Given the description of an element on the screen output the (x, y) to click on. 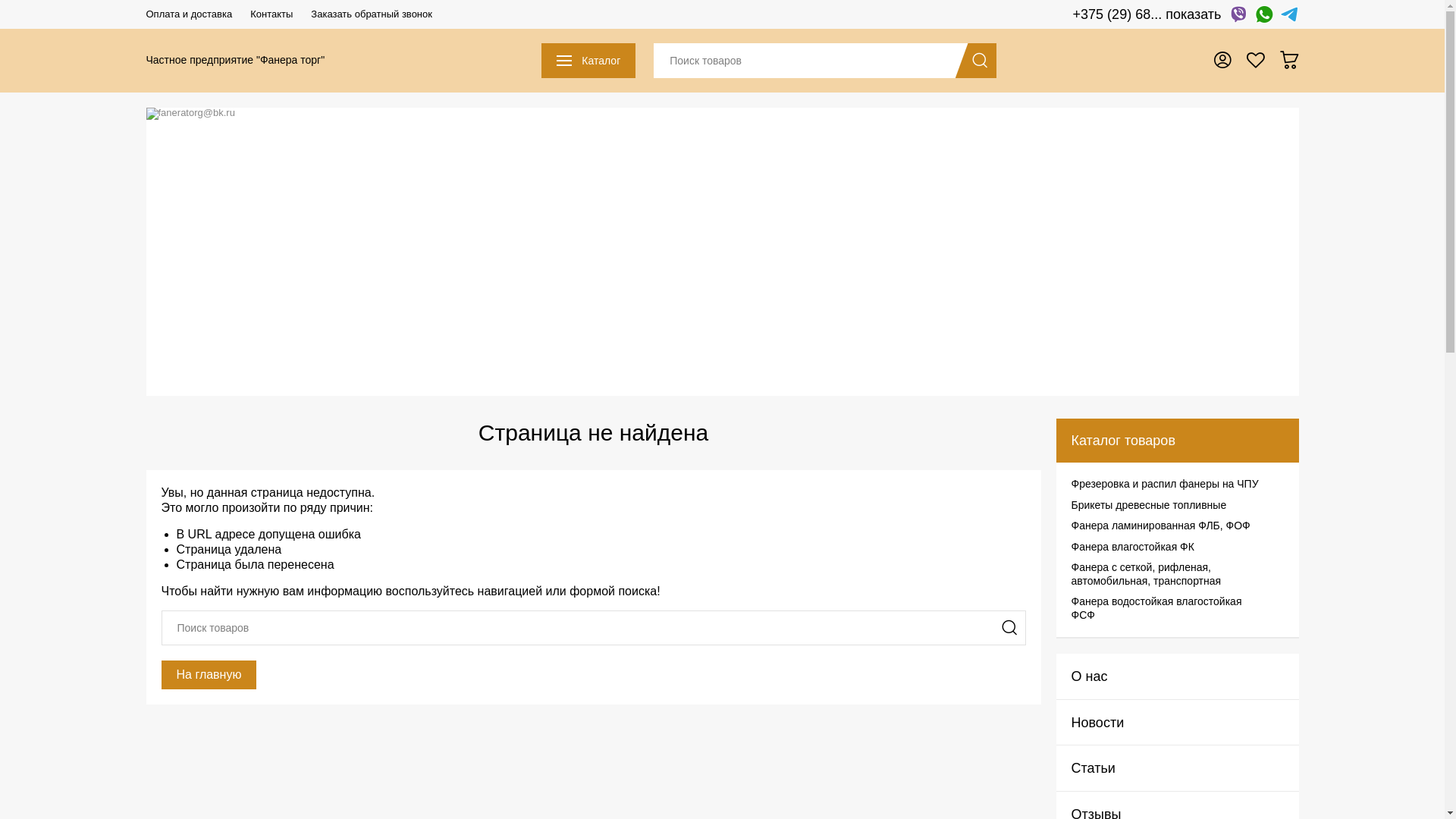
Viber Element type: hover (1237, 14)
WhatsApp Element type: hover (1263, 14)
faneratorg@bk.ru Element type: hover (721, 113)
Telegram Element type: hover (1289, 14)
